Given the description of an element on the screen output the (x, y) to click on. 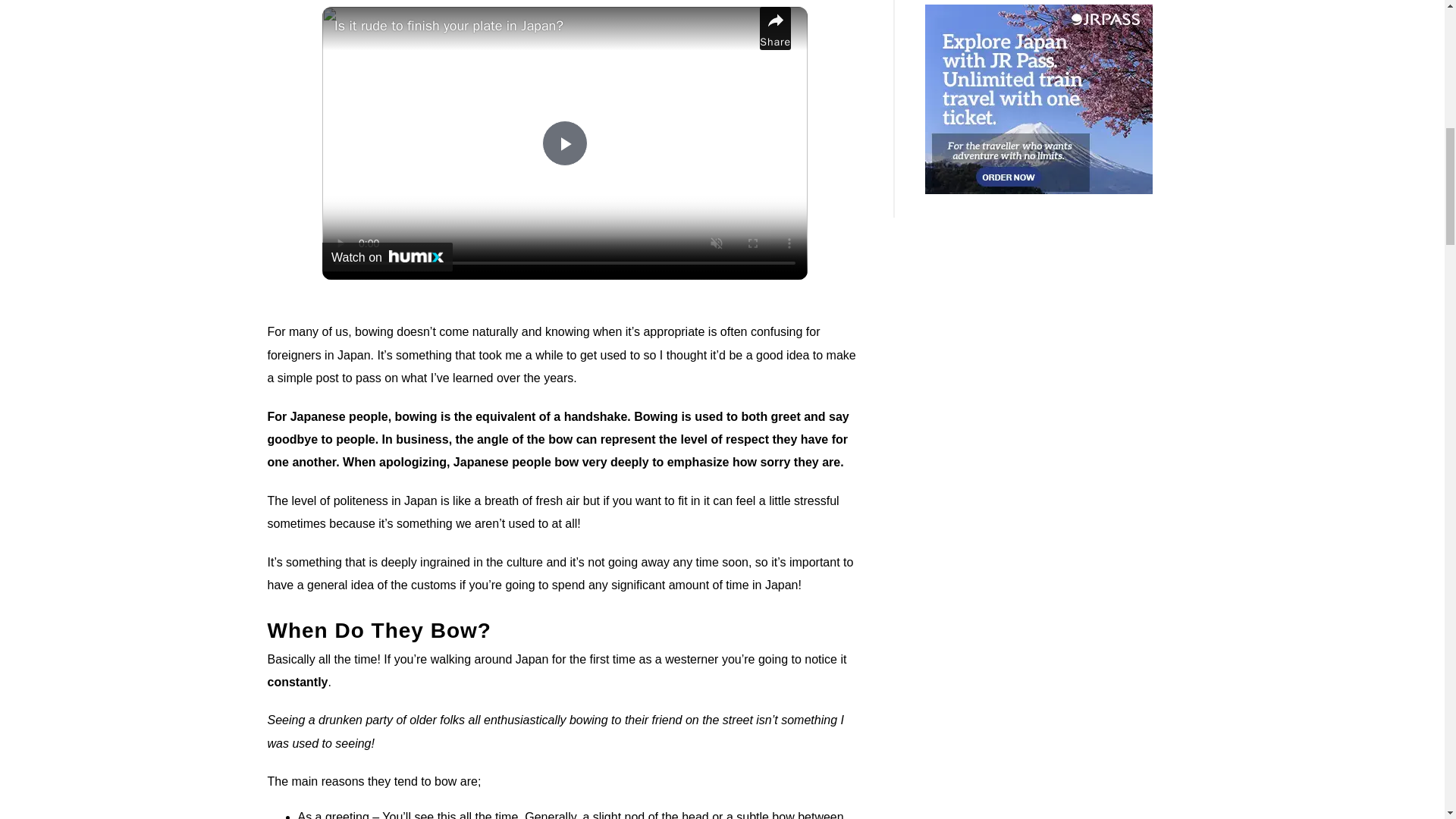
Play Video (564, 143)
Play Video (564, 143)
Watch on (386, 256)
share (775, 27)
Is it rude to finish your plate in Japan? (543, 25)
Share (775, 27)
